Given the description of an element on the screen output the (x, y) to click on. 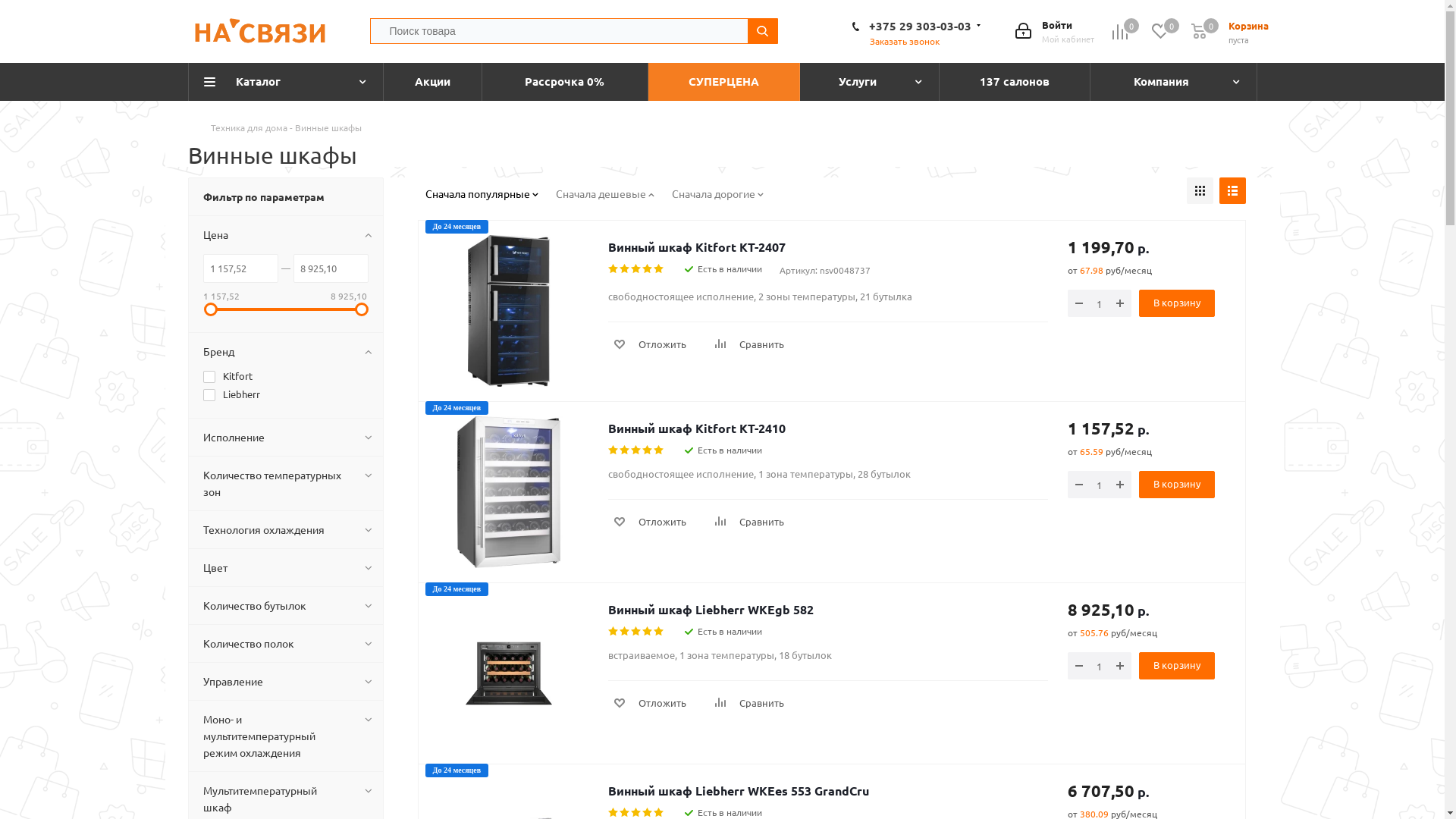
4 Element type: hover (646, 268)
3 Element type: hover (636, 268)
4 Element type: hover (646, 631)
5 Element type: hover (659, 450)
1 Element type: hover (613, 450)
1 Element type: hover (613, 812)
+375 29 303-03-03 Element type: text (920, 25)
2 Element type: hover (624, 450)
5 Element type: hover (659, 812)
3 Element type: hover (636, 450)
1 Element type: hover (613, 268)
3 Element type: hover (636, 631)
2 Element type: hover (624, 812)
1 Element type: hover (613, 631)
5 Element type: hover (659, 268)
4 Element type: hover (646, 812)
nsv.by Element type: hover (260, 33)
Y Element type: text (4, 4)
3 Element type: hover (636, 812)
2 Element type: hover (624, 631)
2 Element type: hover (624, 268)
4 Element type: hover (646, 450)
5 Element type: hover (659, 631)
